Given the description of an element on the screen output the (x, y) to click on. 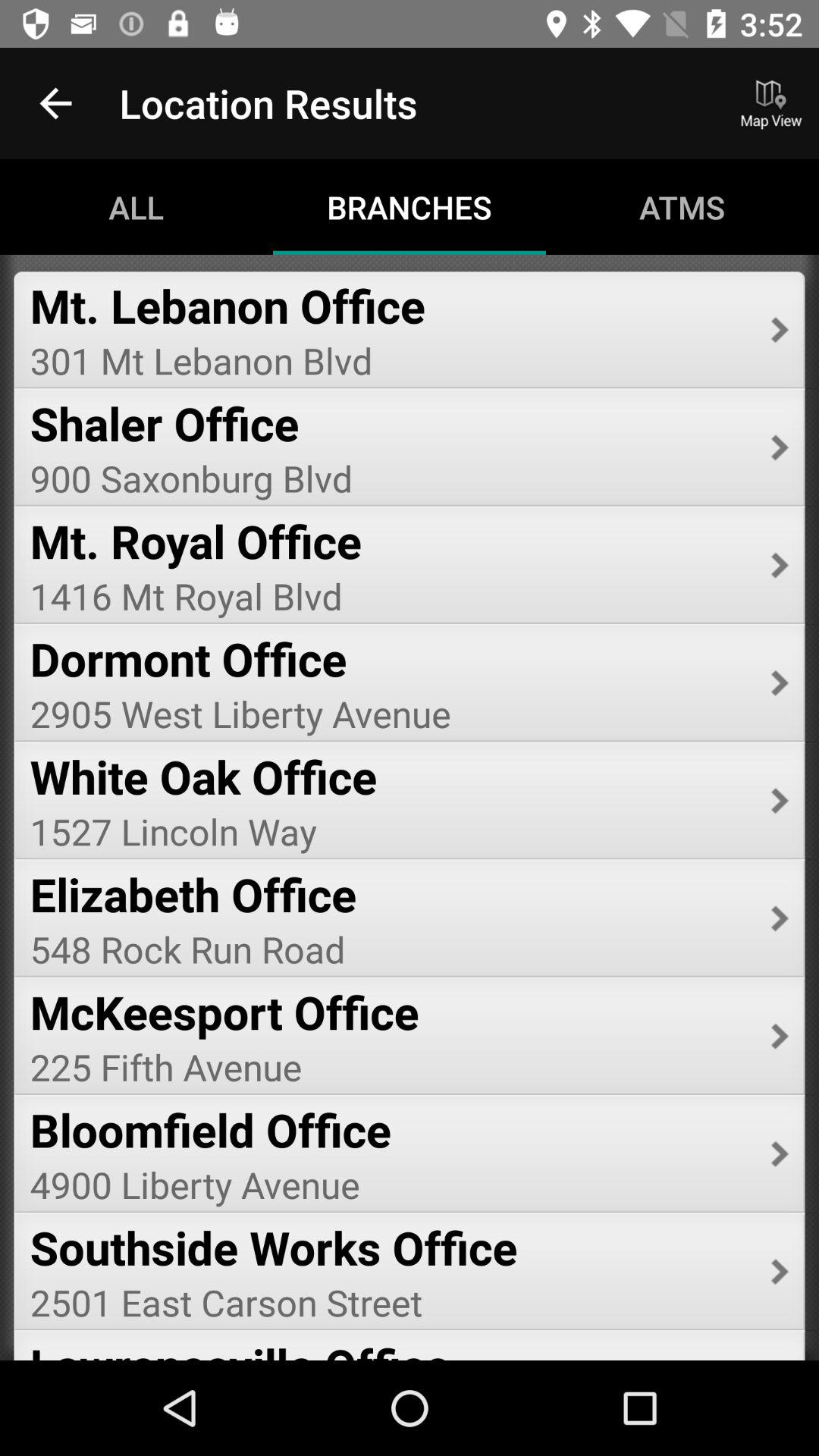
tap lawrenceville office item (390, 1347)
